Given the description of an element on the screen output the (x, y) to click on. 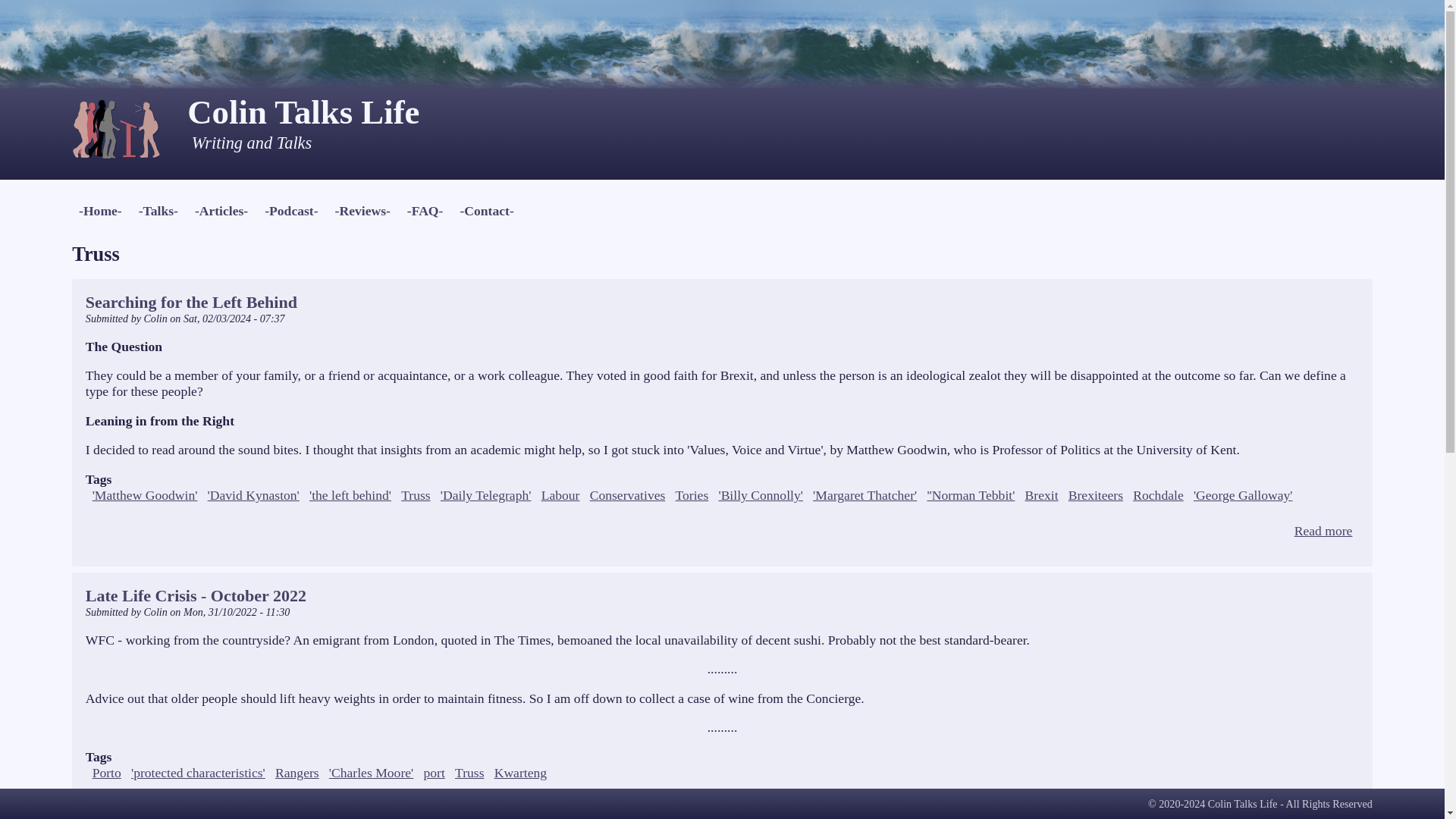
FAQ (425, 211)
Blog Articles (221, 211)
'David Kynaston' (253, 494)
Home (129, 136)
port (433, 772)
''Norman Tebbit' (970, 494)
'Charles Moore' (371, 772)
Searching for the Left Behind (191, 302)
Reviews (362, 211)
'Billy Connolly' (759, 494)
'Margaret Thatcher' (864, 494)
Brexit (1041, 494)
Rangers (296, 772)
Searching for the Left Behind (1323, 530)
